Given the description of an element on the screen output the (x, y) to click on. 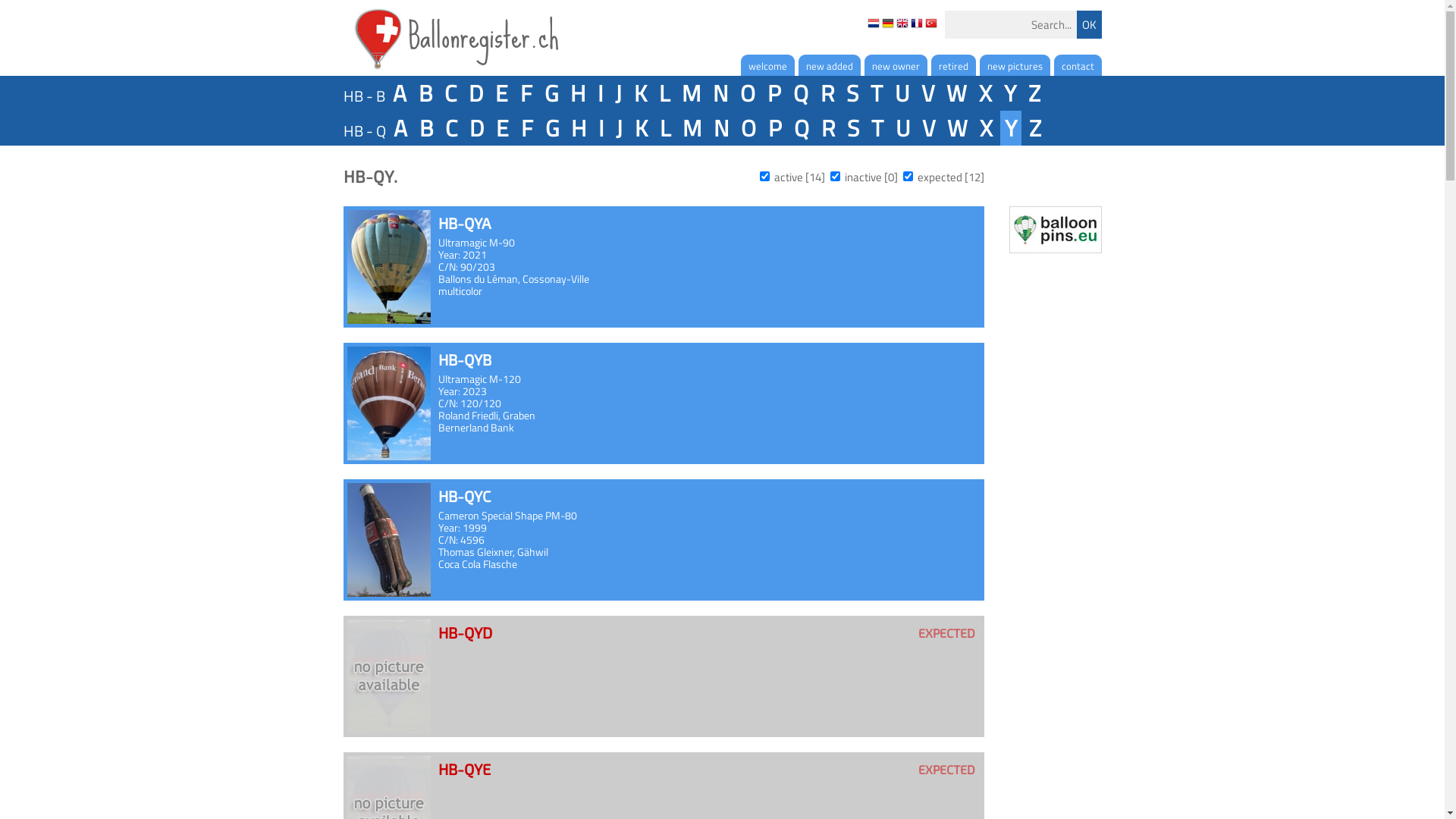
Z Element type: text (1033, 92)
F Element type: text (525, 92)
J Element type: text (619, 127)
new added Element type: text (828, 64)
G Element type: text (550, 127)
K Element type: text (640, 127)
contact Element type: text (1077, 64)
C Element type: text (450, 92)
W Element type: text (956, 127)
D Element type: text (475, 127)
L Element type: text (663, 92)
Q Element type: text (800, 127)
F Element type: text (525, 127)
O Element type: text (747, 92)
P Element type: text (773, 92)
I Element type: text (600, 127)
P Element type: text (773, 127)
H Element type: text (577, 92)
Y Element type: text (1009, 127)
D Element type: text (475, 92)
M Element type: text (691, 127)
R Element type: text (826, 92)
V Element type: text (927, 92)
L Element type: text (664, 127)
X Element type: text (986, 127)
H Element type: text (577, 127)
welcome Element type: text (766, 64)
E Element type: text (502, 127)
S Element type: text (851, 127)
O Element type: text (747, 127)
J Element type: text (617, 92)
T Element type: text (876, 92)
Q Element type: text (800, 92)
S Element type: text (851, 92)
Y Element type: text (1009, 92)
I Element type: text (600, 92)
U Element type: text (901, 92)
R Element type: text (826, 127)
X Element type: text (984, 92)
K Element type: text (640, 92)
B Element type: text (425, 127)
retired Element type: text (953, 64)
V Element type: text (928, 127)
T Element type: text (876, 127)
A Element type: text (399, 127)
G Element type: text (550, 92)
C Element type: text (450, 127)
U Element type: text (901, 127)
new owner Element type: text (895, 64)
N Element type: text (720, 127)
E Element type: text (500, 92)
B Element type: text (425, 92)
W Element type: text (956, 92)
M Element type: text (690, 92)
Z Element type: text (1033, 127)
new pictures Element type: text (1014, 64)
N Element type: text (720, 92)
A Element type: text (399, 92)
